Given the description of an element on the screen output the (x, y) to click on. 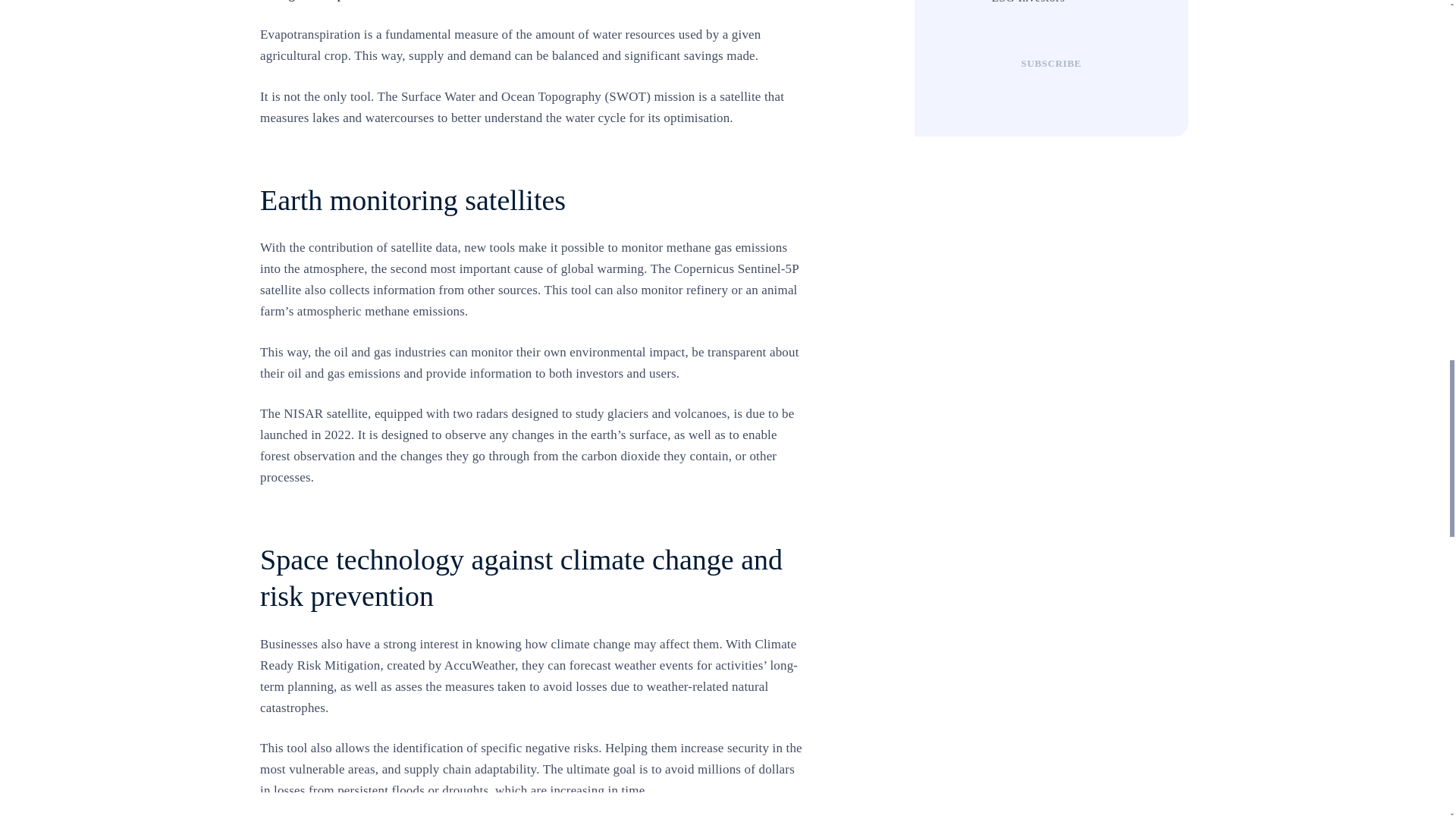
ESG Investors (975, 2)
